Given the description of an element on the screen output the (x, y) to click on. 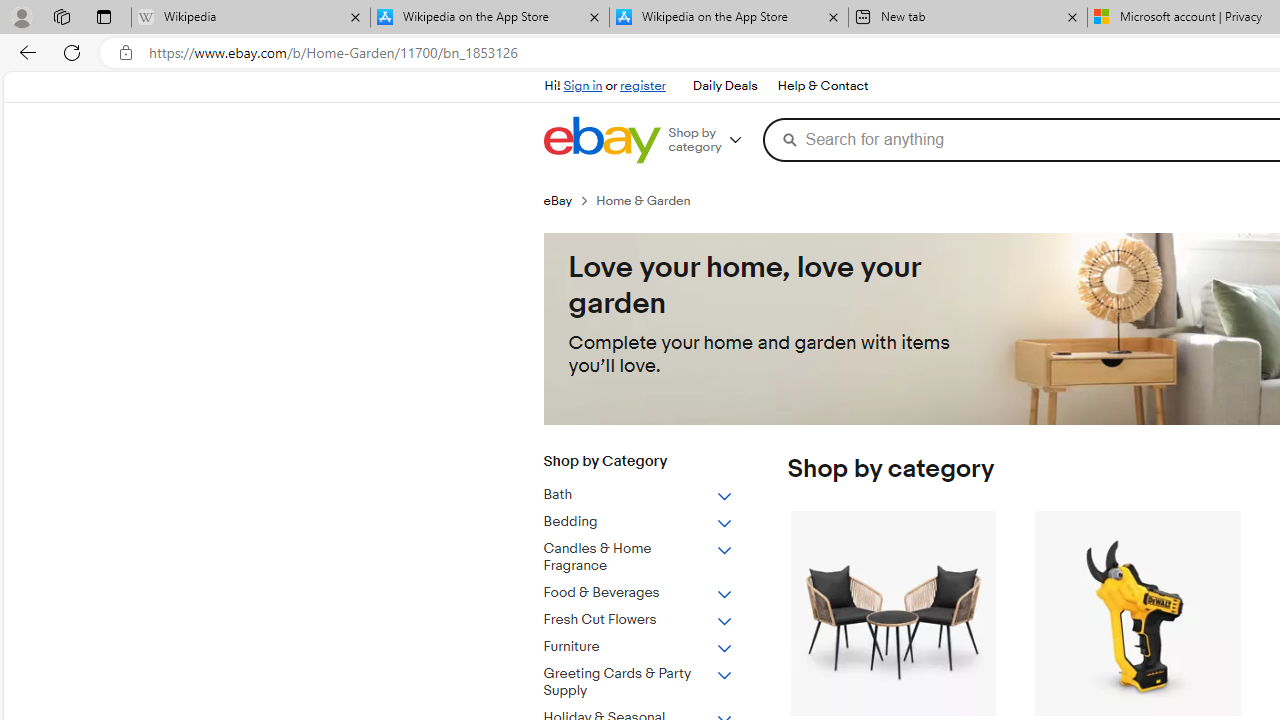
Personal Profile (21, 16)
Daily Deals (724, 86)
Furniture (637, 646)
Close tab (1072, 16)
eBay (569, 200)
Back (24, 52)
